Given the description of an element on the screen output the (x, y) to click on. 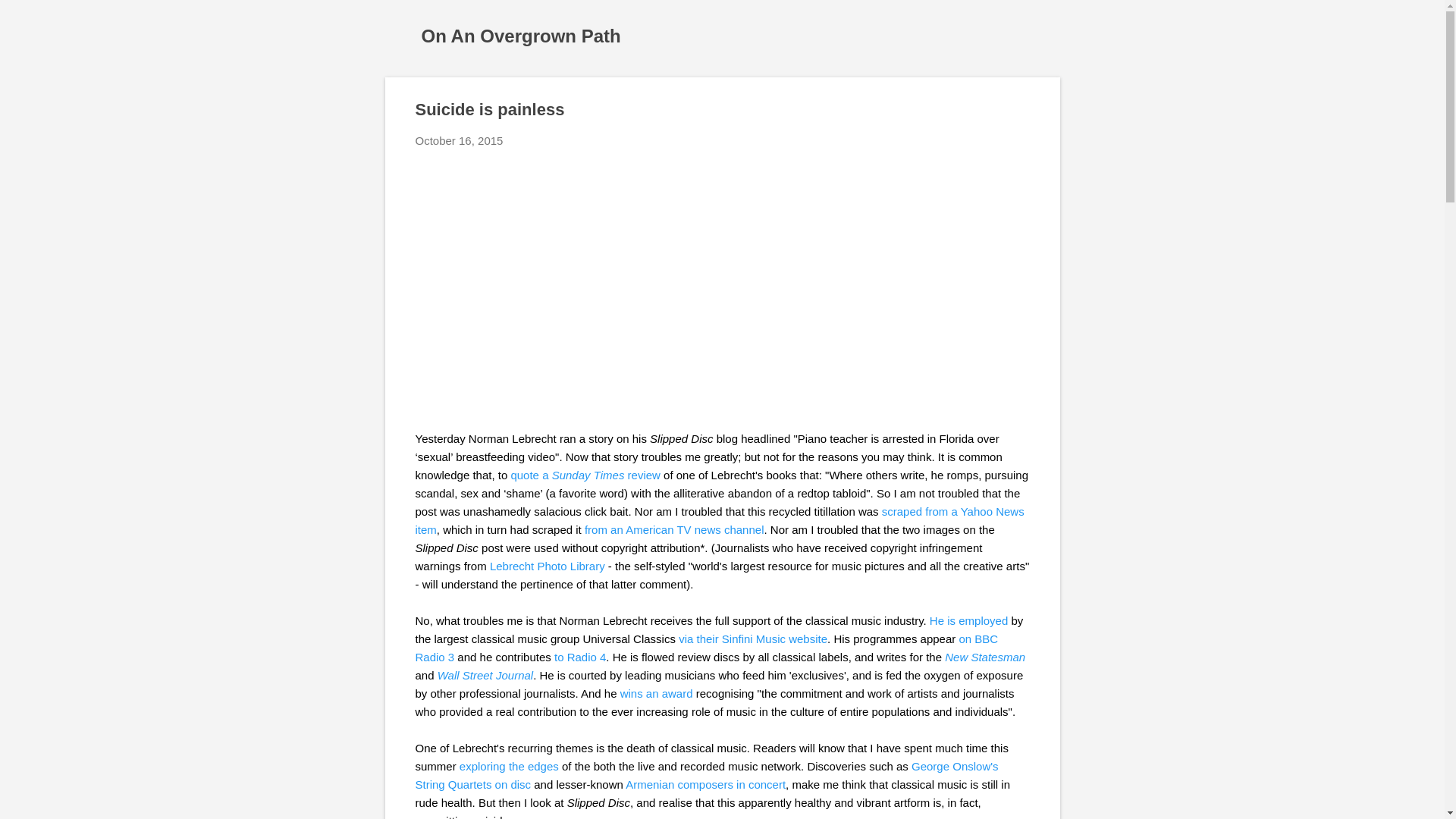
Lebrecht Photo Library (547, 565)
scraped from a Yahoo News item (719, 520)
October 16, 2015 (458, 140)
to Radio 4 (579, 656)
New Statesman (984, 656)
He is employed (968, 620)
from an American TV news channel (674, 529)
permanent link (458, 140)
On An Overgrown Path (521, 35)
via their Sinfini Music website (752, 638)
Wall Street Journal (485, 675)
Armenian composers in concert (706, 784)
quote a Sunday Times review (585, 474)
exploring the edges (509, 766)
on BBC Radio 3 (706, 647)
